Given the description of an element on the screen output the (x, y) to click on. 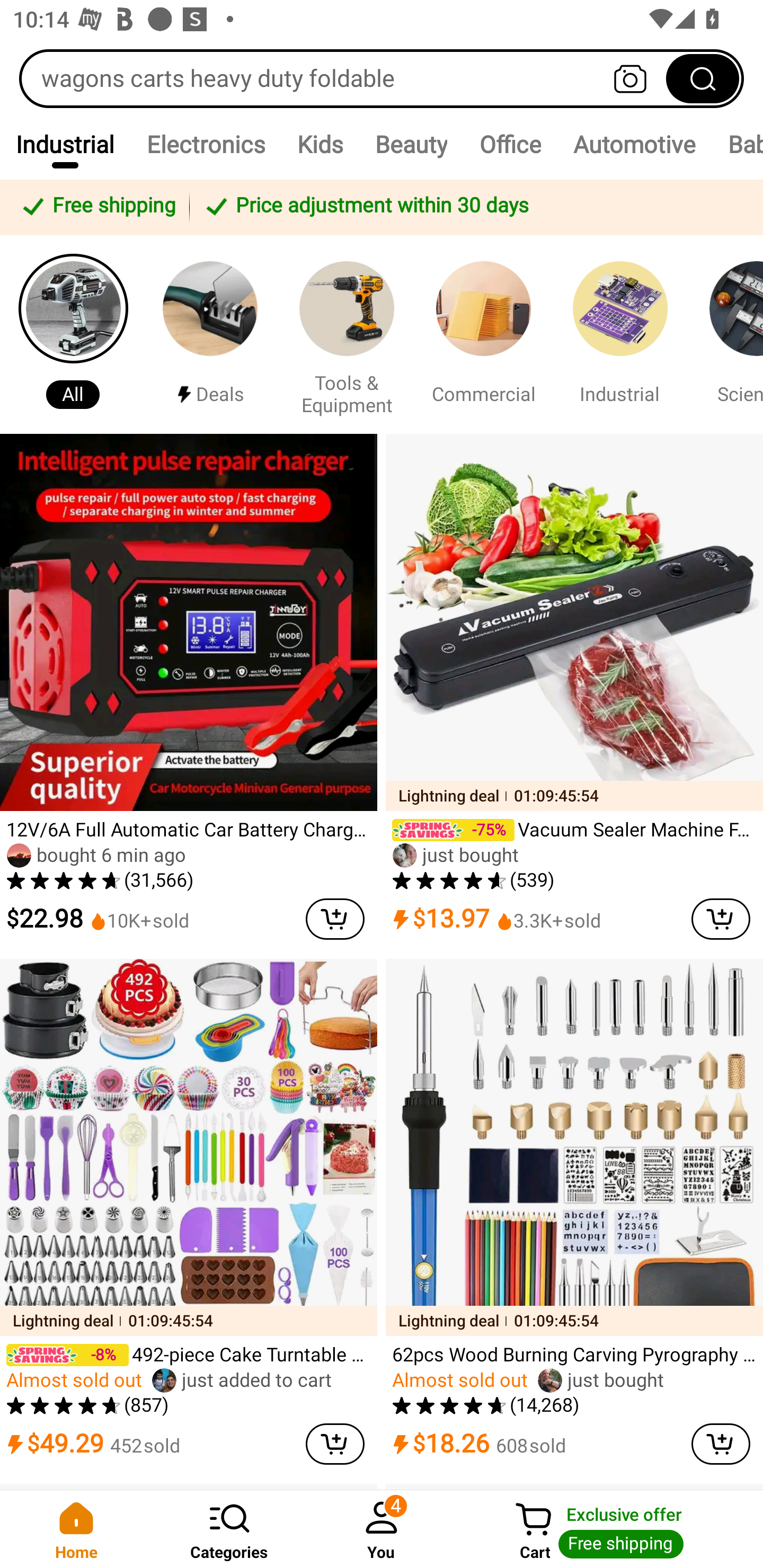
wagons carts heavy duty foldable (381, 78)
Industrial (65, 144)
Electronics (205, 144)
Kids (319, 144)
Beauty (410, 144)
Office (509, 144)
Automotive (633, 144)
Free shipping (97, 206)
Price adjustment within 30 days (472, 206)
All (72, 333)
￼￼Deals (209, 333)
Tools & Equipment (346, 333)
Commercial (482, 333)
Industrial (619, 333)
Scientific (729, 333)
cart delete (334, 918)
cart delete (720, 918)
cart delete (334, 1443)
cart delete (720, 1443)
Home (76, 1528)
Categories (228, 1528)
You 4 You (381, 1528)
Cart Cart Exclusive offer (610, 1528)
